Given the description of an element on the screen output the (x, y) to click on. 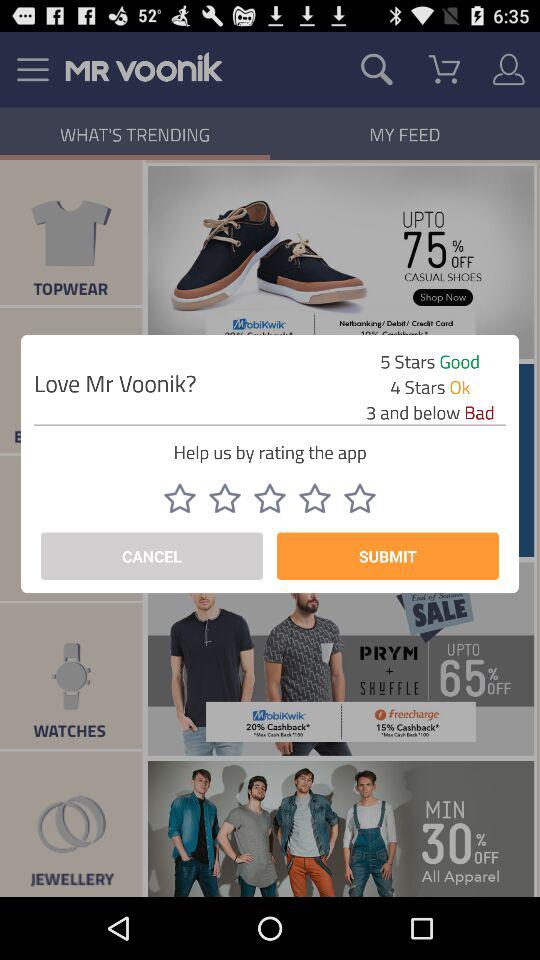
select button above the cancel button (179, 498)
